Given the description of an element on the screen output the (x, y) to click on. 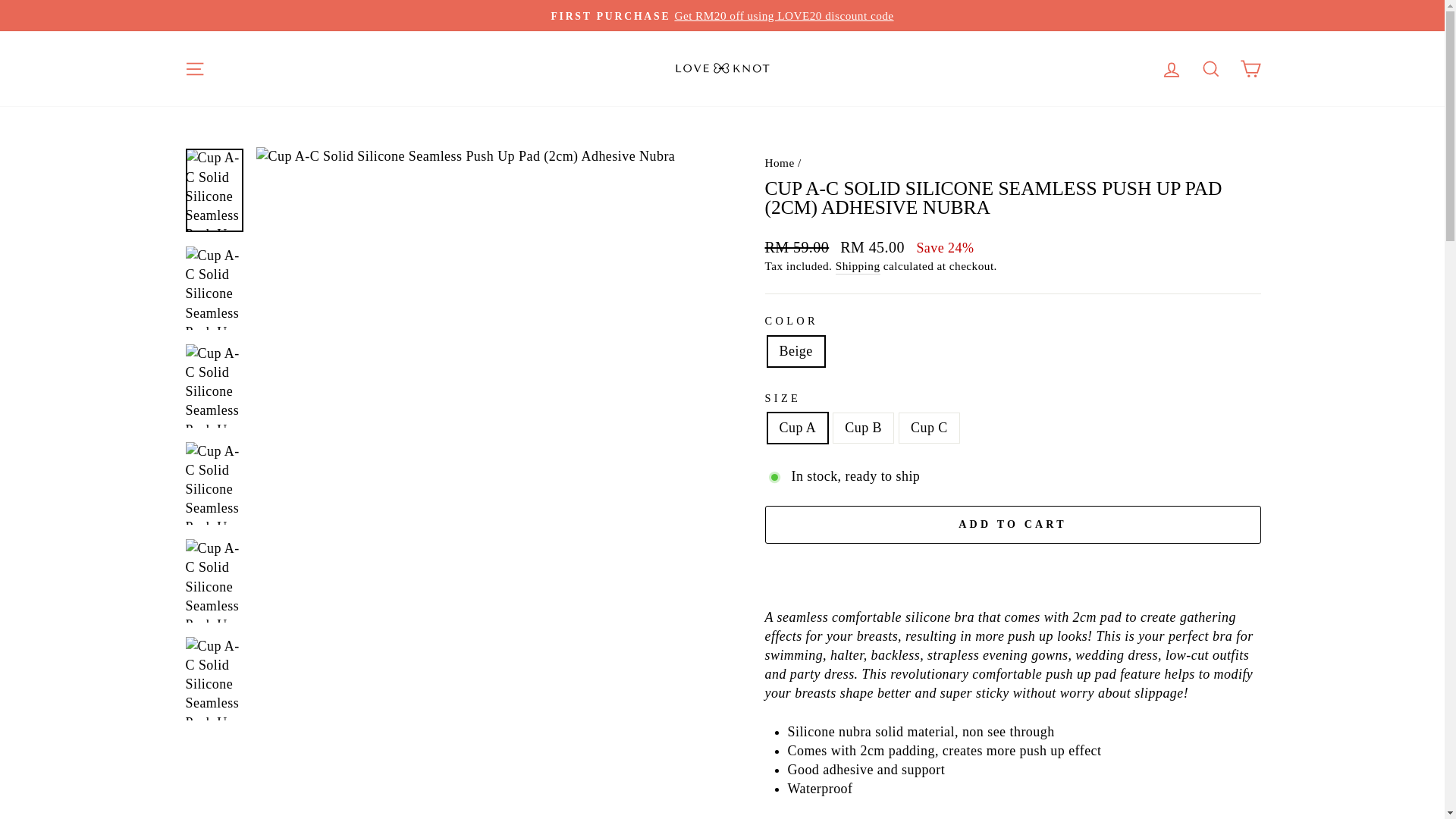
LOG IN (1171, 69)
SITE NAVIGATION (194, 69)
FIRST PURCHASEGet RM20 off using LOVE20 discount code (722, 15)
Back to the frontpage (778, 162)
